Given the description of an element on the screen output the (x, y) to click on. 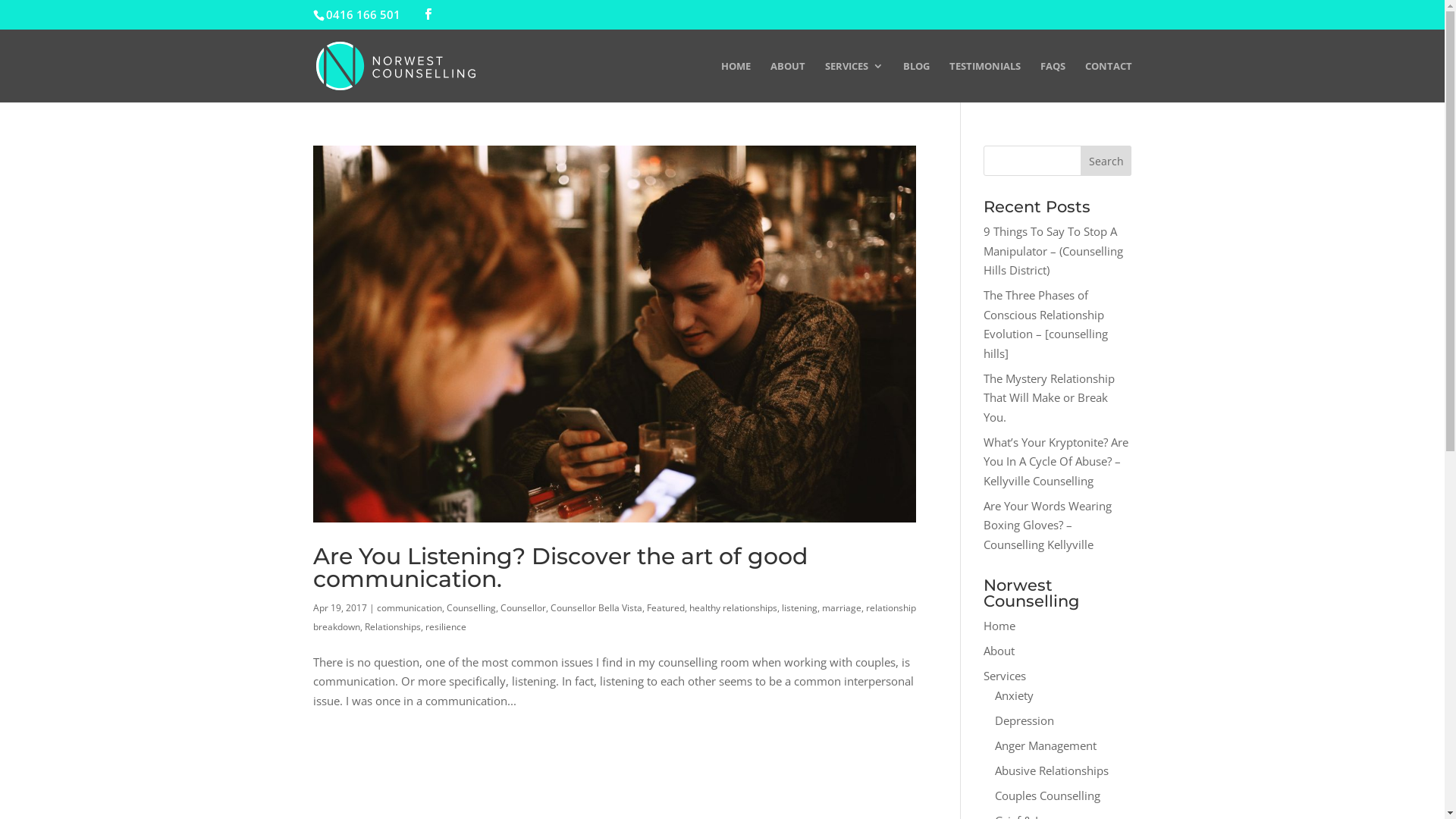
Services Element type: text (1004, 675)
Counsellor Element type: text (523, 607)
Anxiety Element type: text (1013, 694)
HOME Element type: text (734, 81)
resilience Element type: text (444, 626)
CONTACT Element type: text (1107, 81)
Abusive Relationships Element type: text (1051, 770)
listening Element type: text (798, 607)
TESTIMONIALS Element type: text (984, 81)
ABOUT Element type: text (787, 81)
About Element type: text (998, 650)
relationship breakdown Element type: text (613, 617)
Are You Listening? Discover the art of good communication. Element type: text (559, 567)
BLOG Element type: text (915, 81)
Counsellor Bella Vista Element type: text (596, 607)
SERVICES Element type: text (854, 81)
Relationships Element type: text (392, 626)
marriage Element type: text (841, 607)
Home Element type: text (999, 625)
Counselling Element type: text (470, 607)
Featured Element type: text (665, 607)
Depression Element type: text (1024, 720)
Anger Management Element type: text (1045, 744)
Search Element type: text (1106, 160)
Couples Counselling Element type: text (1047, 794)
The Mystery Relationship That Will Make or Break You. Element type: text (1048, 396)
healthy relationships Element type: text (732, 607)
communication Element type: text (408, 607)
FAQS Element type: text (1052, 81)
